Given the description of an element on the screen output the (x, y) to click on. 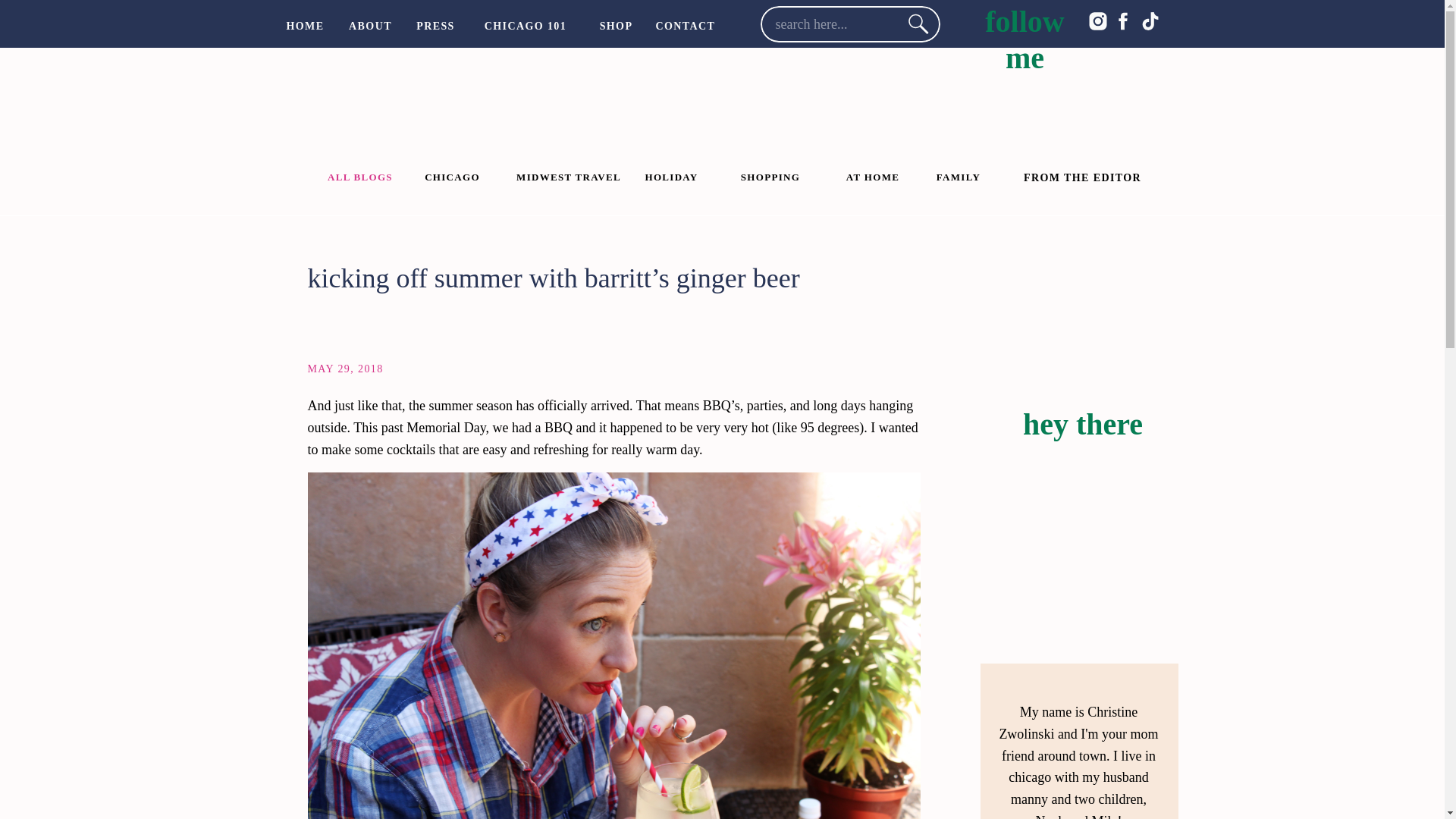
PRESS (435, 23)
HOME (304, 23)
ALL BLOGS (359, 175)
SHOPPING (770, 175)
FAMILY (958, 175)
ABOUT (369, 23)
CHICAGO (452, 175)
HOLIDAY (670, 175)
CONTACT (684, 23)
MIDWEST TRAVEL (568, 177)
